Given the description of an element on the screen output the (x, y) to click on. 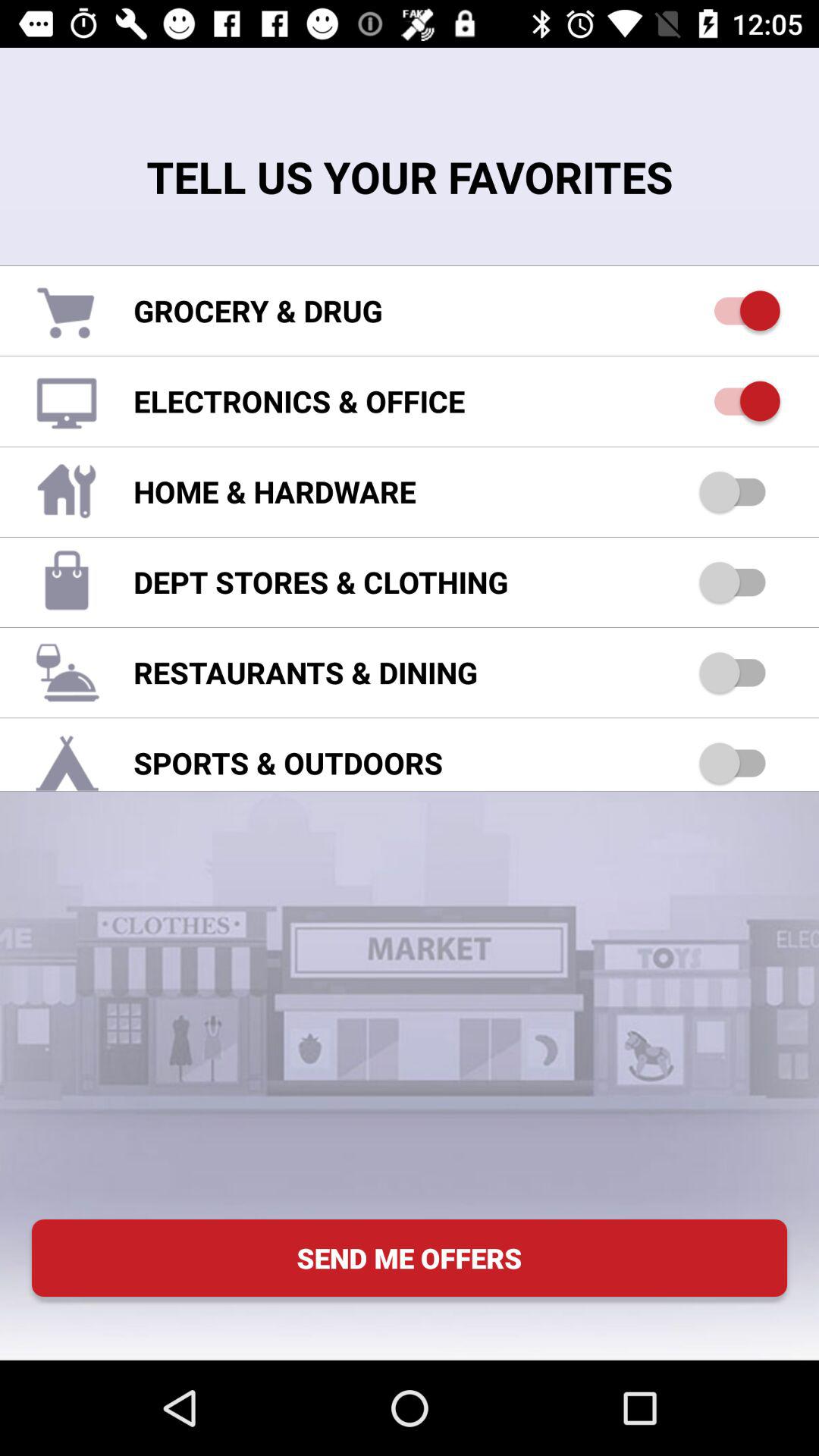
change option (739, 401)
